Given the description of an element on the screen output the (x, y) to click on. 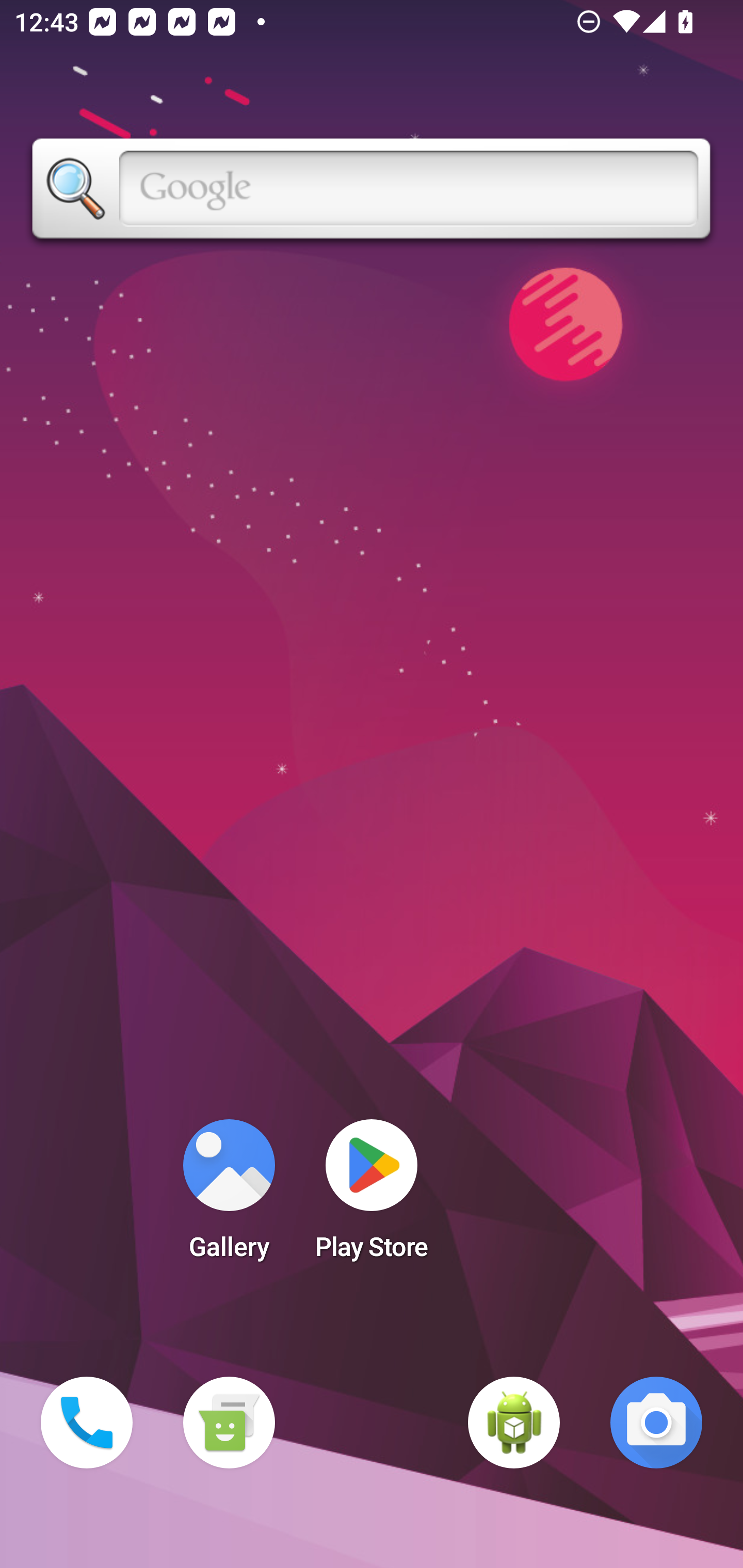
Gallery (228, 1195)
Play Store (371, 1195)
Phone (86, 1422)
Messaging (228, 1422)
WebView Browser Tester (513, 1422)
Camera (656, 1422)
